Given the description of an element on the screen output the (x, y) to click on. 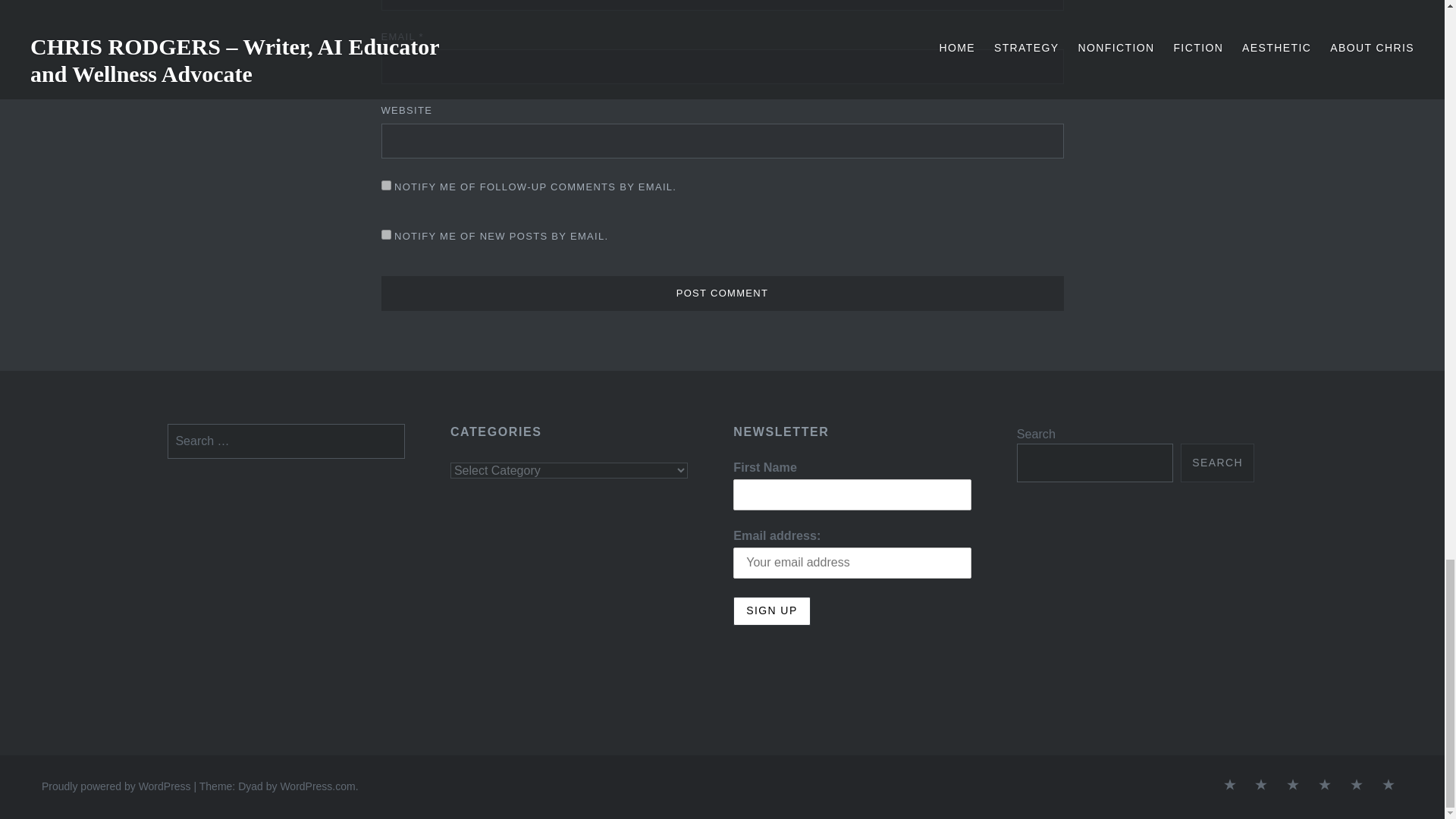
Sign up (771, 611)
subscribe (385, 185)
Post Comment (721, 293)
subscribe (385, 234)
